Given the description of an element on the screen output the (x, y) to click on. 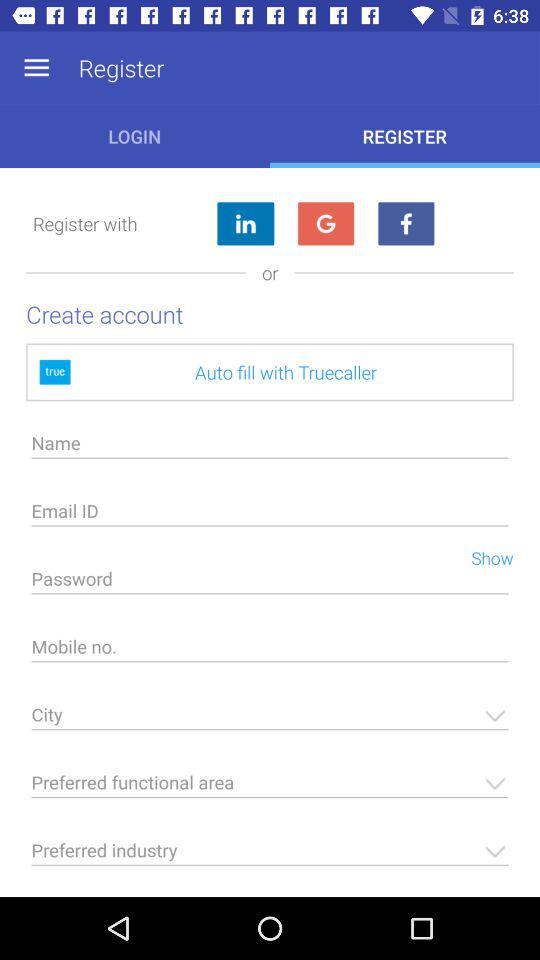
choose a preferred functional area (269, 788)
